Given the description of an element on the screen output the (x, y) to click on. 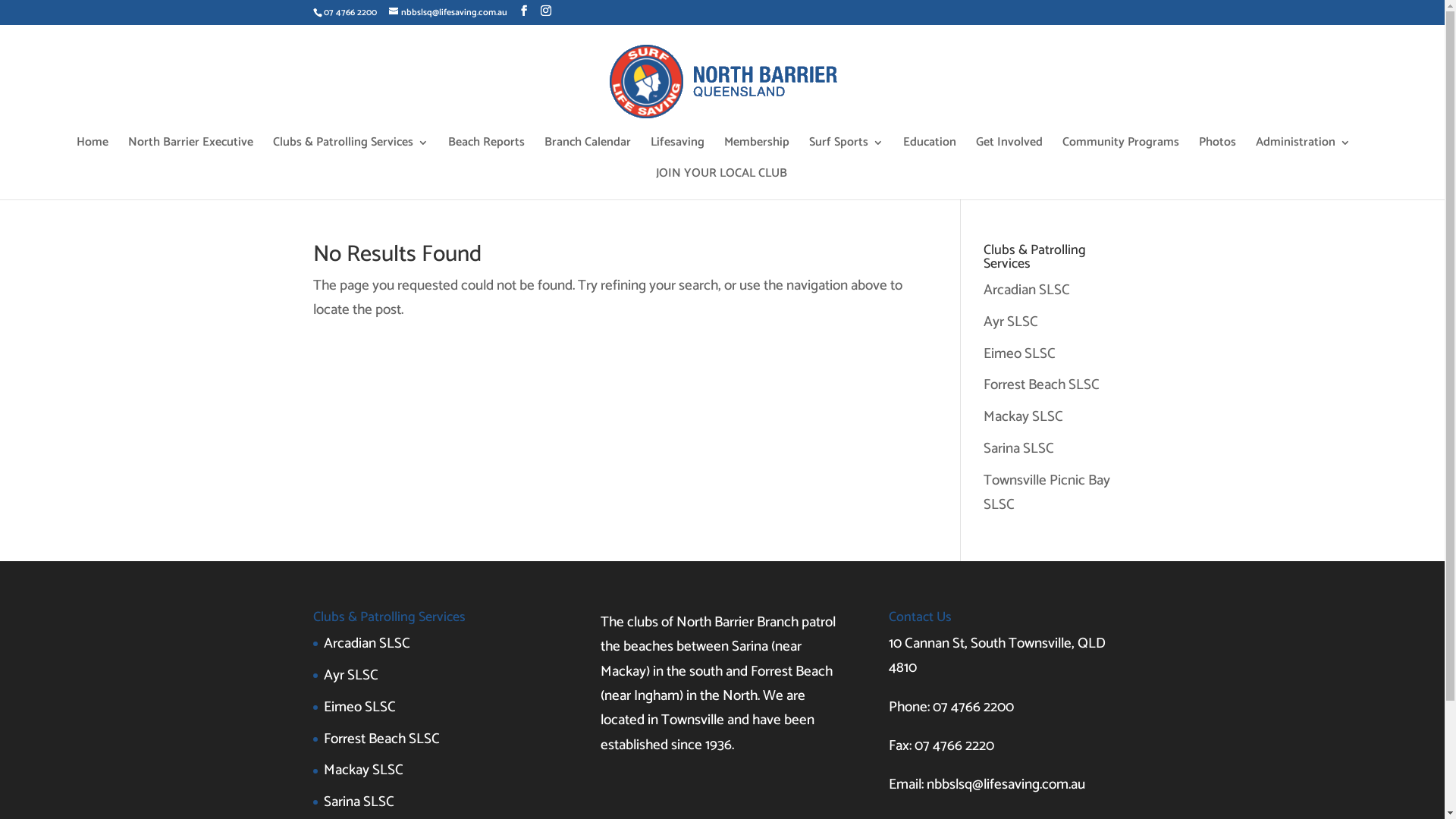
Community Programs Element type: text (1119, 152)
Eimeo SLSC Element type: text (1019, 353)
Education Element type: text (928, 152)
nbbslsq@lifesaving.com.au Element type: text (447, 12)
Mackay SLSC Element type: text (1023, 416)
Photos Element type: text (1216, 152)
Beach Reports Element type: text (485, 152)
Surf Sports Element type: text (845, 152)
Arcadian SLSC Element type: text (366, 643)
Forrest Beach SLSC Element type: text (381, 738)
Ayr SLSC Element type: text (350, 675)
Arcadian SLSC Element type: text (1026, 289)
nbbslsq@lifesaving.com.au Element type: text (1005, 784)
Membership Element type: text (755, 152)
Sarina SLSC Element type: text (358, 801)
Sarina SLSC Element type: text (1018, 448)
Get Involved Element type: text (1008, 152)
North Barrier Executive Element type: text (189, 152)
JOIN YOUR LOCAL CLUB Element type: text (721, 183)
Home Element type: text (91, 152)
Mackay SLSC Element type: text (362, 769)
Administration Element type: text (1302, 152)
Branch Calendar Element type: text (587, 152)
Townsville Picnic Bay SLSC Element type: text (1046, 492)
Forrest Beach SLSC Element type: text (1041, 384)
Clubs & Patrolling Services Element type: text (350, 152)
Lifesaving Element type: text (677, 152)
Ayr SLSC Element type: text (1010, 321)
Eimeo SLSC Element type: text (359, 706)
